Given the description of an element on the screen output the (x, y) to click on. 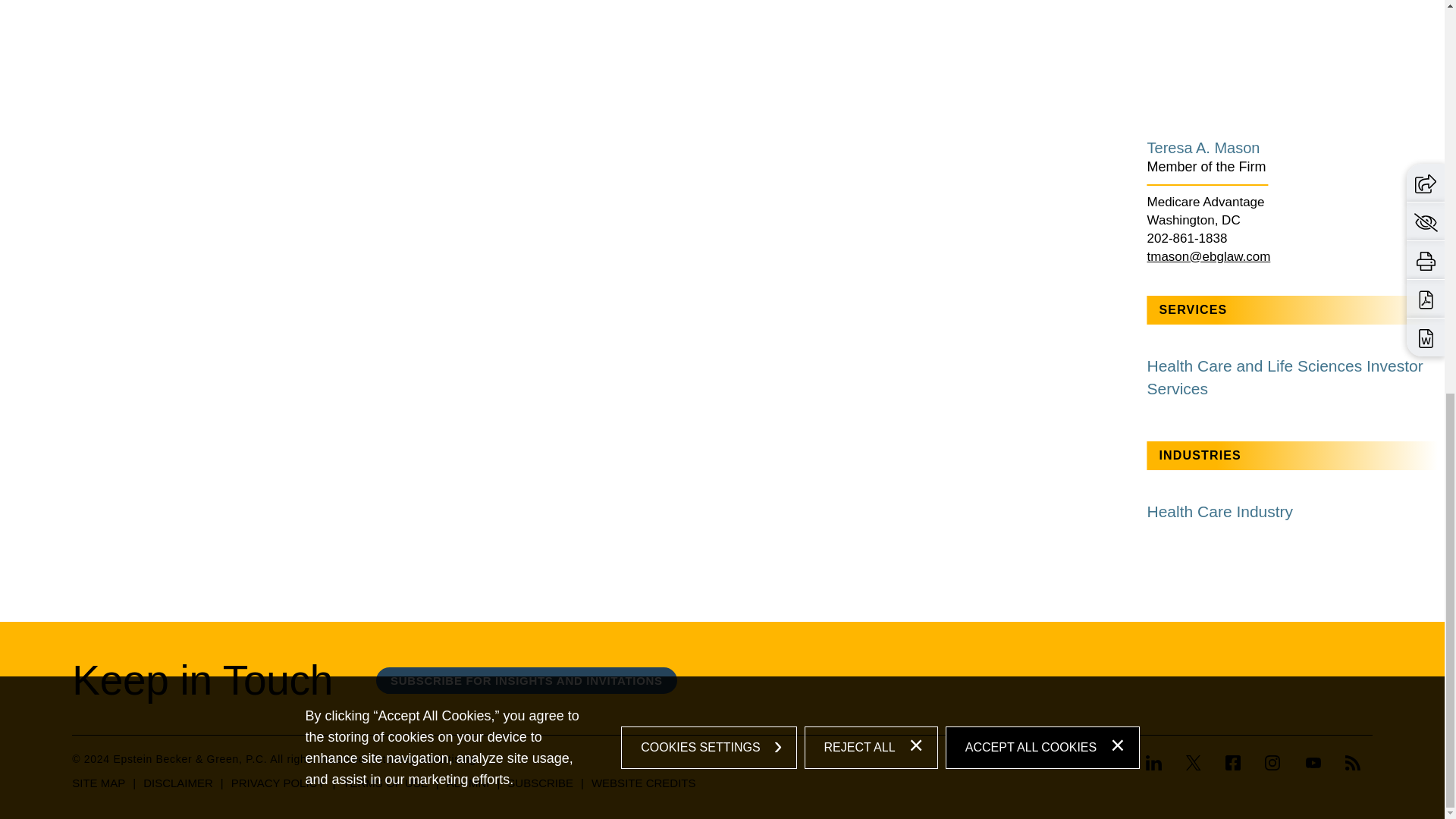
Twitter (1193, 762)
Youtube (1313, 762)
Twitter (1192, 764)
Facebook (1232, 764)
RSS (1352, 762)
Linkedin (1159, 764)
Instagram (1273, 762)
Facebook (1232, 762)
Linkedin (1153, 762)
Instagram (1273, 764)
